Given the description of an element on the screen output the (x, y) to click on. 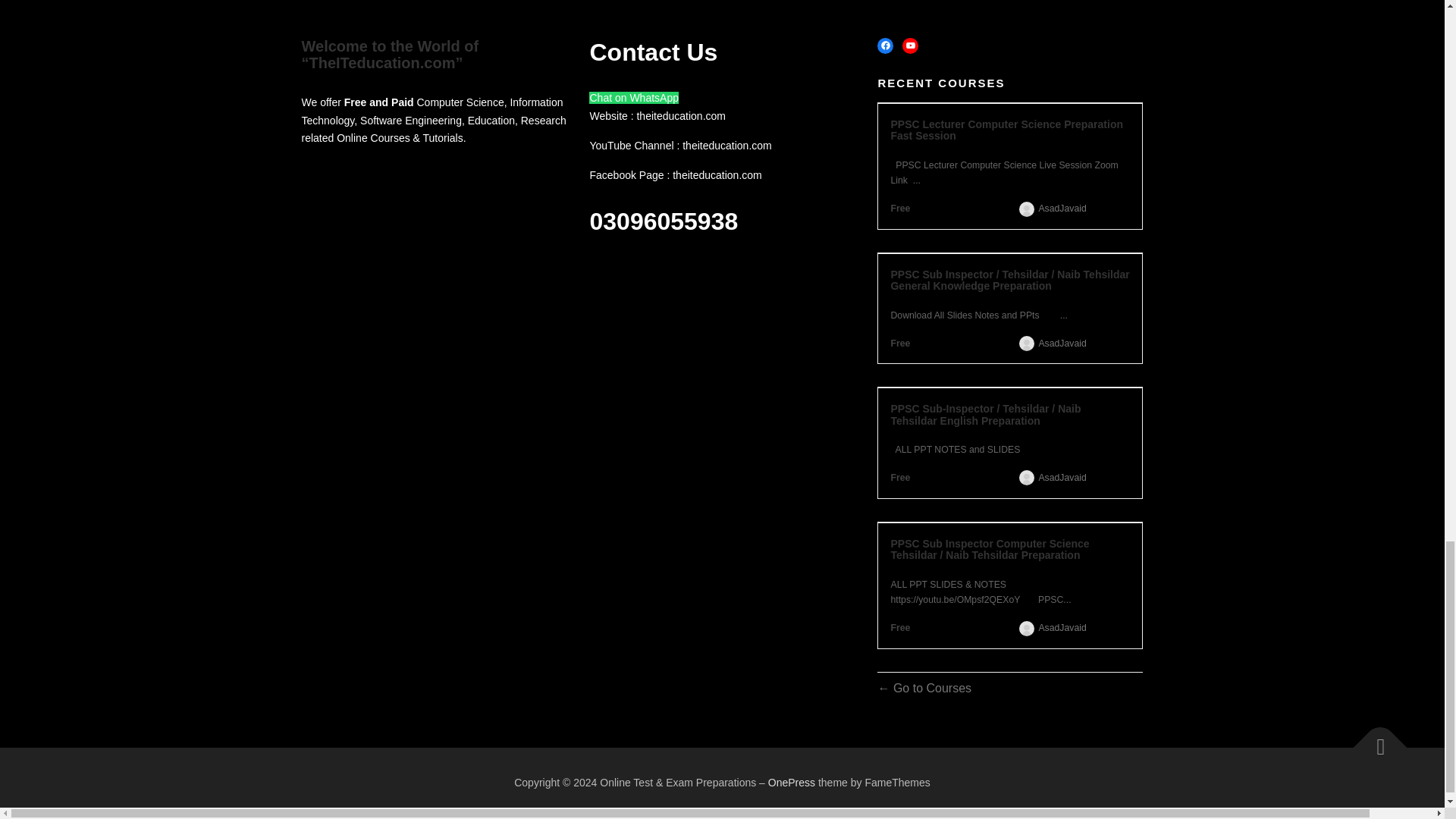
AsadJavaid (1062, 208)
AsadJavaid (1062, 478)
Chat on WhatsApp (633, 97)
Go to Courses (924, 687)
AsadJavaid (1062, 343)
Back To Top (1372, 739)
AsadJavaid (1062, 627)
PPSC Lecturer Computer Science Preparation Fast Session (1009, 130)
OnePress (791, 782)
Facebook (885, 45)
